Given the description of an element on the screen output the (x, y) to click on. 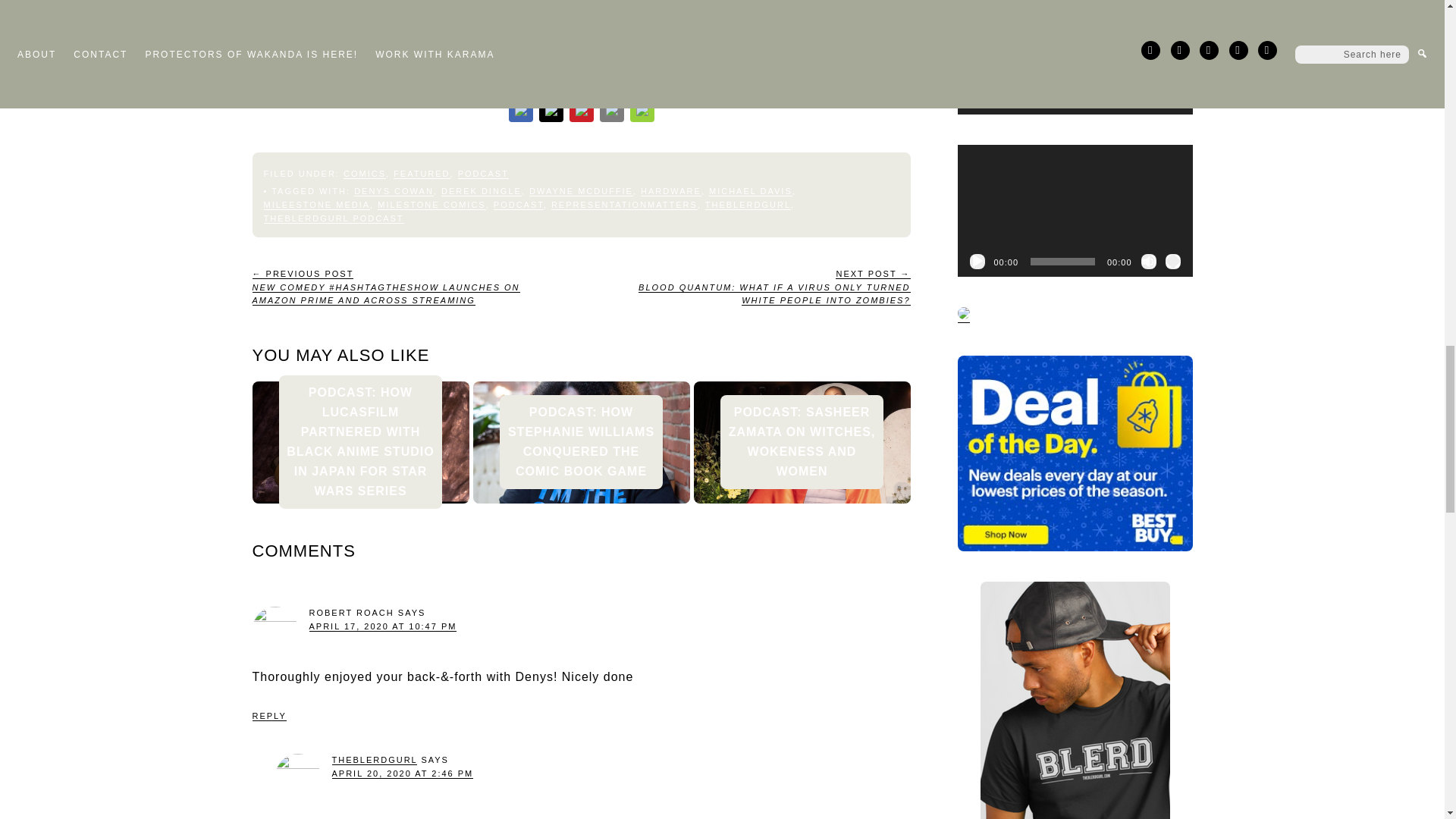
Blubrry Podcast Player (580, 14)
Subscribe via RSS (473, 65)
More (514, 65)
Download (470, 44)
Subscribe on iHeartRadio (411, 65)
Play in new window (368, 44)
Subscribe on Spotify (342, 65)
